Given the description of an element on the screen output the (x, y) to click on. 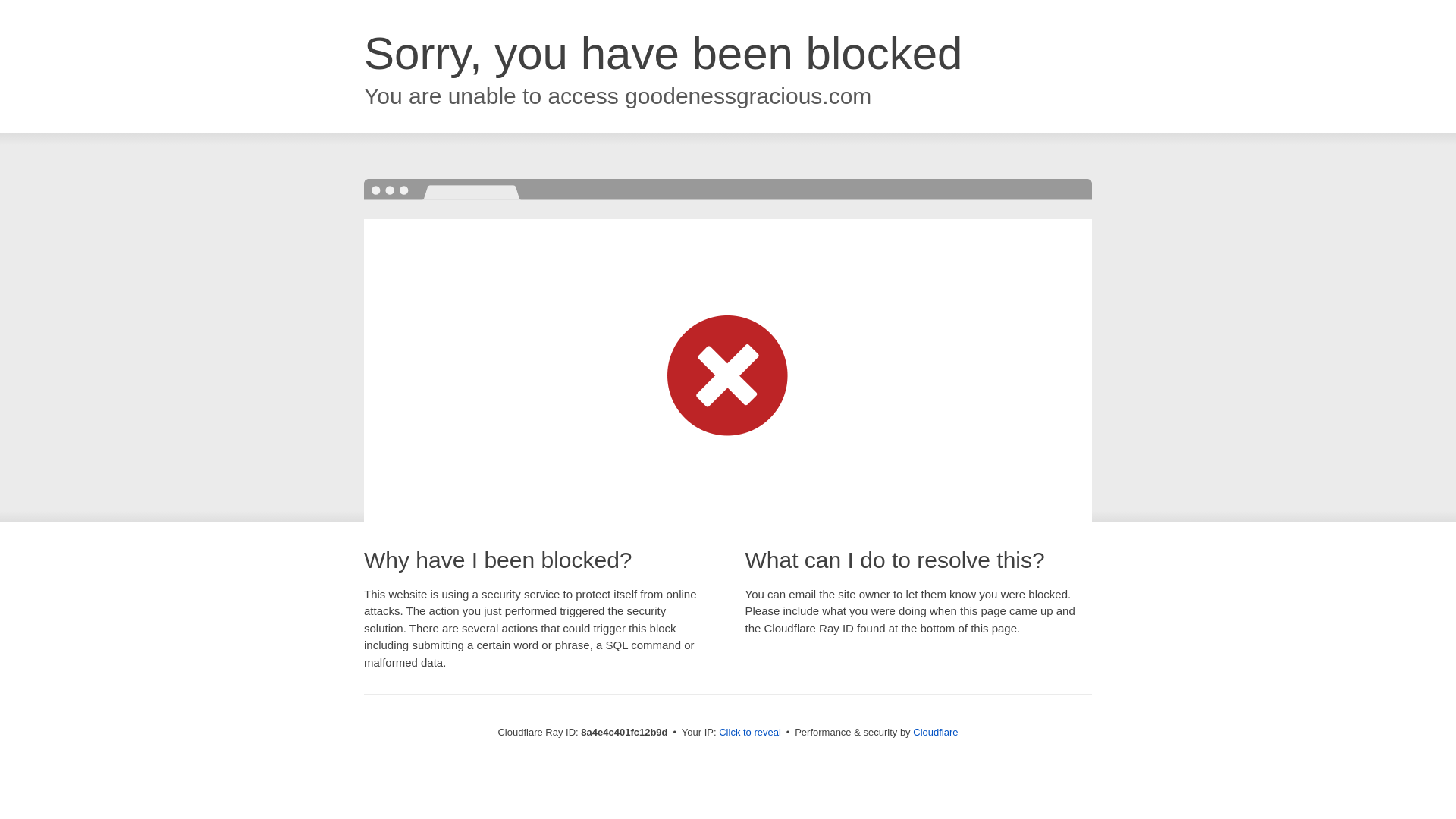
Click to reveal (749, 732)
Cloudflare (935, 731)
